Given the description of an element on the screen output the (x, y) to click on. 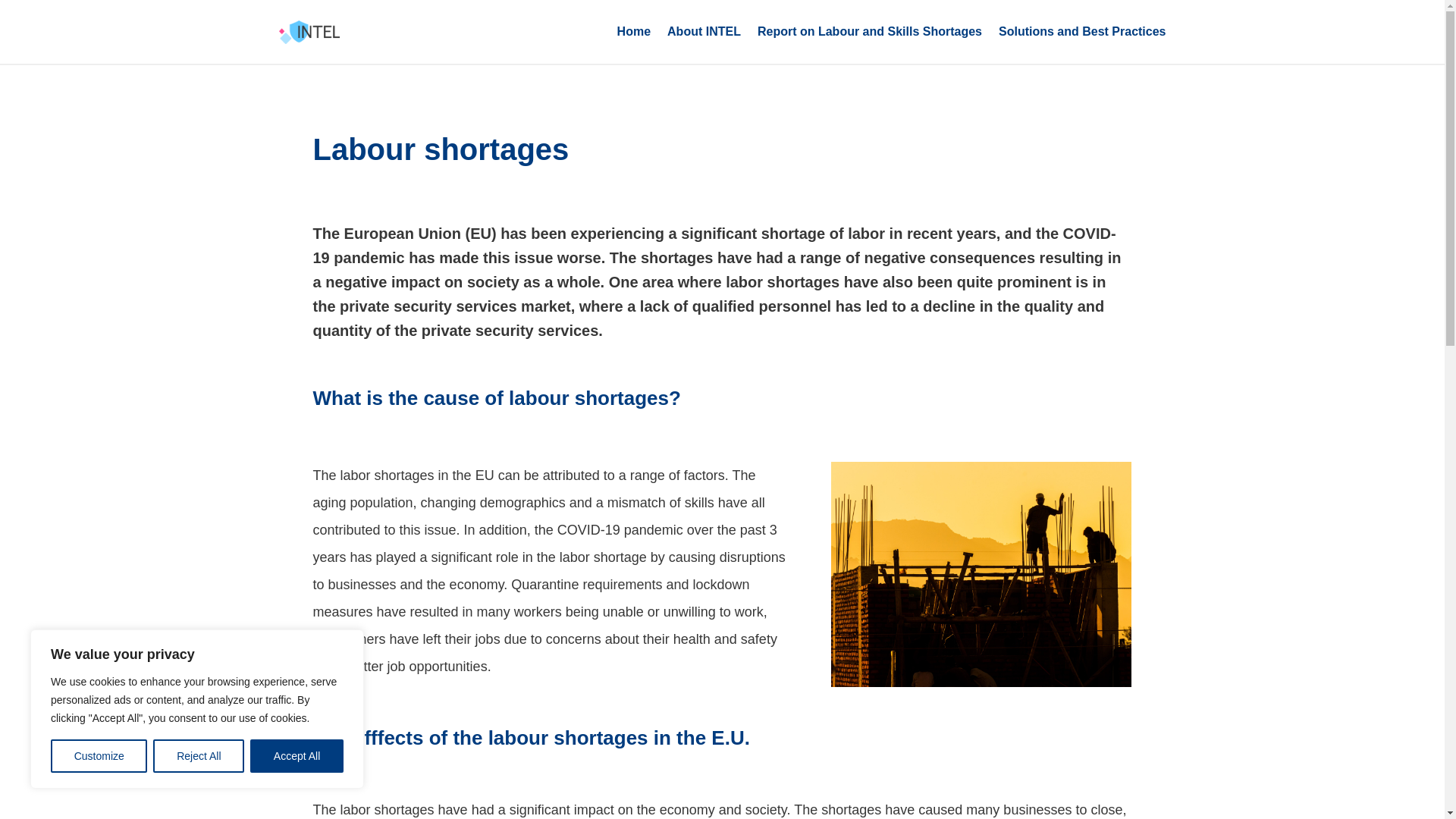
Accept All (296, 756)
Customize (98, 756)
About INTEL (703, 31)
labour-workers (981, 574)
Solutions and Best Practices (1082, 31)
Reject All (198, 756)
Report on Labour and Skills Shortages (869, 31)
